Given the description of an element on the screen output the (x, y) to click on. 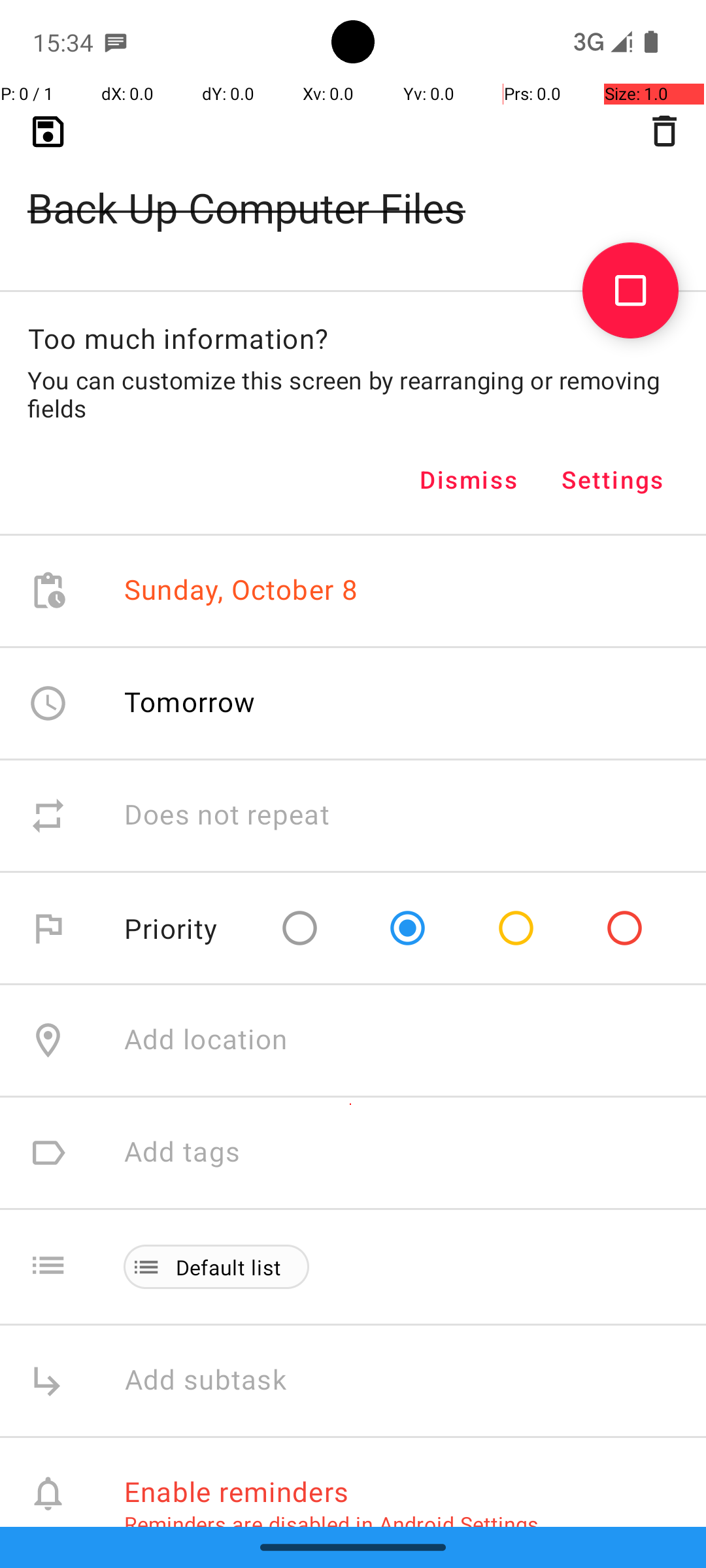
Back Up Computer Files Element type: android.widget.EditText (353, 186)
Sunday, October 8 Element type: android.widget.TextView (240, 590)
